Given the description of an element on the screen output the (x, y) to click on. 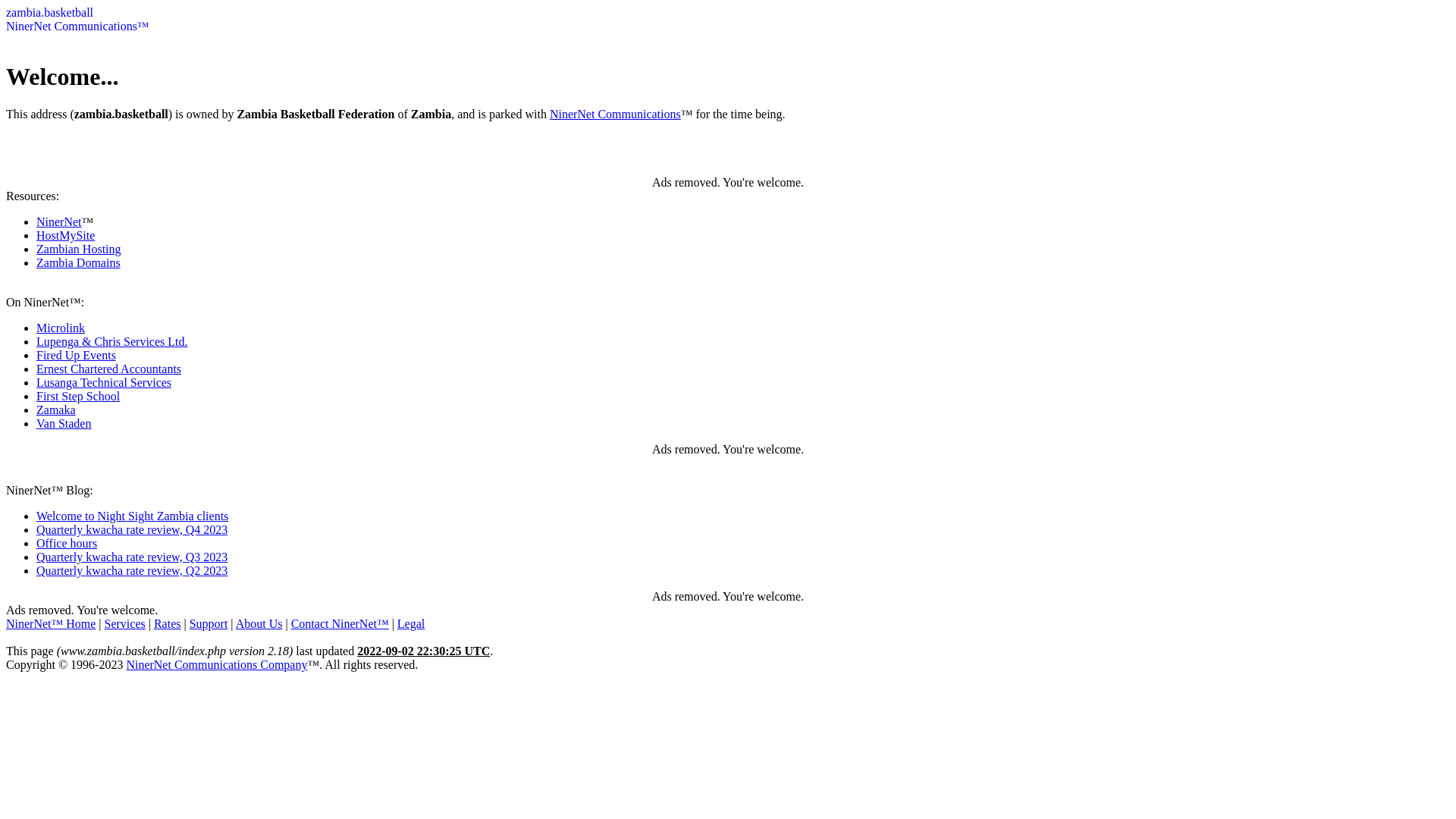
Quarterly kwacha rate review, Q4 2023 Element type: text (131, 529)
Zambian Hosting Element type: text (78, 248)
Lupenga & Chris Services Ltd. Element type: text (112, 341)
NinerNet Communications Company Element type: text (216, 664)
About Us Element type: text (258, 623)
Zambia Domains Element type: text (78, 262)
Legal Element type: text (410, 623)
Support Element type: text (208, 623)
NinerNet Communications Element type: text (614, 113)
Welcome to Night Sight Zambia clients Element type: text (132, 515)
Fired Up Events Element type: text (76, 354)
NinerNet Element type: text (58, 221)
Quarterly kwacha rate review, Q3 2023 Element type: text (131, 556)
Zamaka Element type: text (55, 409)
First Step School Element type: text (77, 395)
HostMySite Element type: text (65, 235)
Rates Element type: text (167, 623)
Services Element type: text (124, 623)
Van Staden Element type: text (63, 423)
Quarterly kwacha rate review, Q2 2023 Element type: text (131, 570)
Ernest Chartered Accountants Element type: text (108, 368)
Lusanga Technical Services Element type: text (103, 382)
Microlink Element type: text (60, 327)
Office hours Element type: text (66, 542)
